Given the description of an element on the screen output the (x, y) to click on. 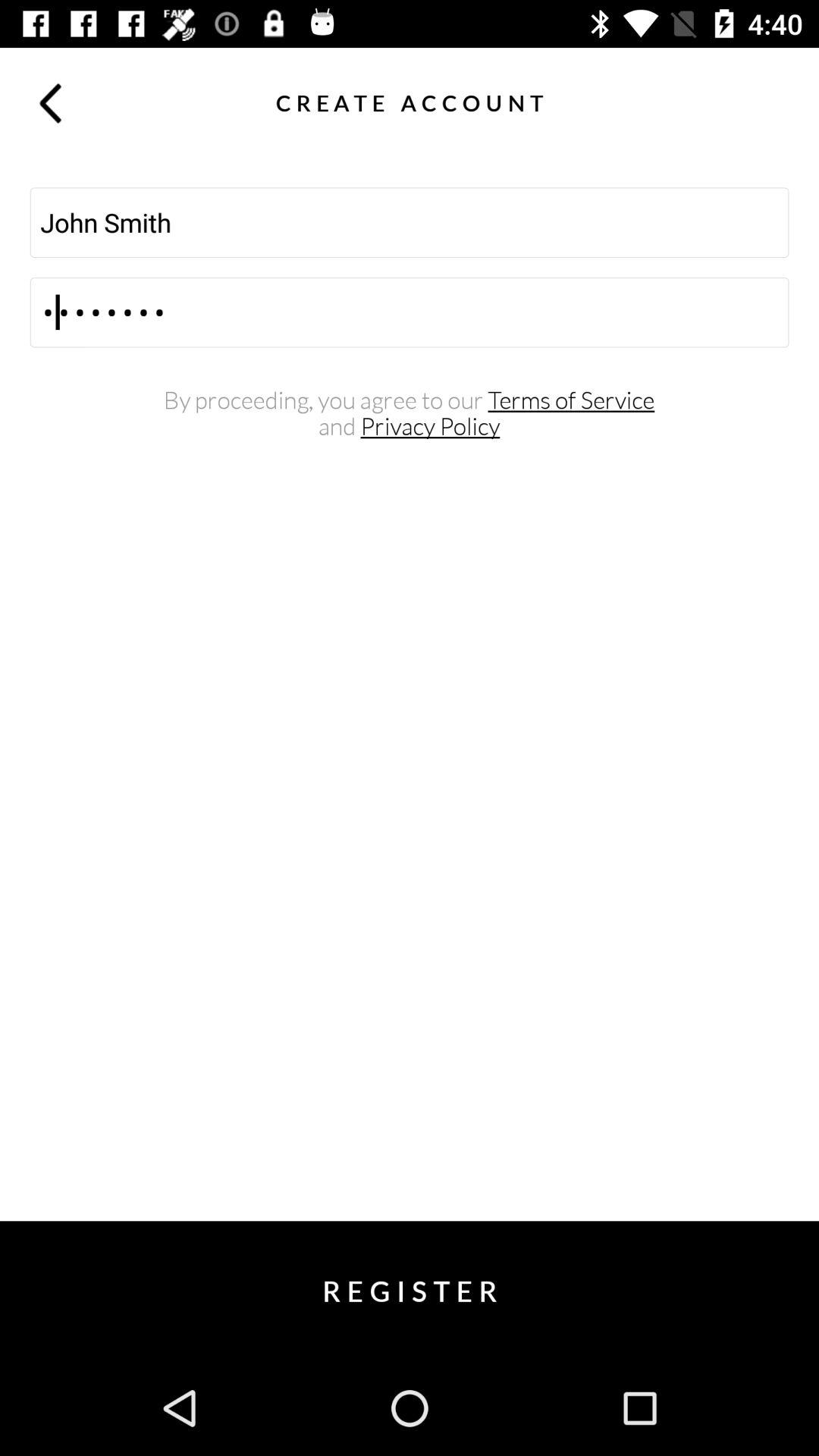
turn on item at the top right corner (769, 102)
